Given the description of an element on the screen output the (x, y) to click on. 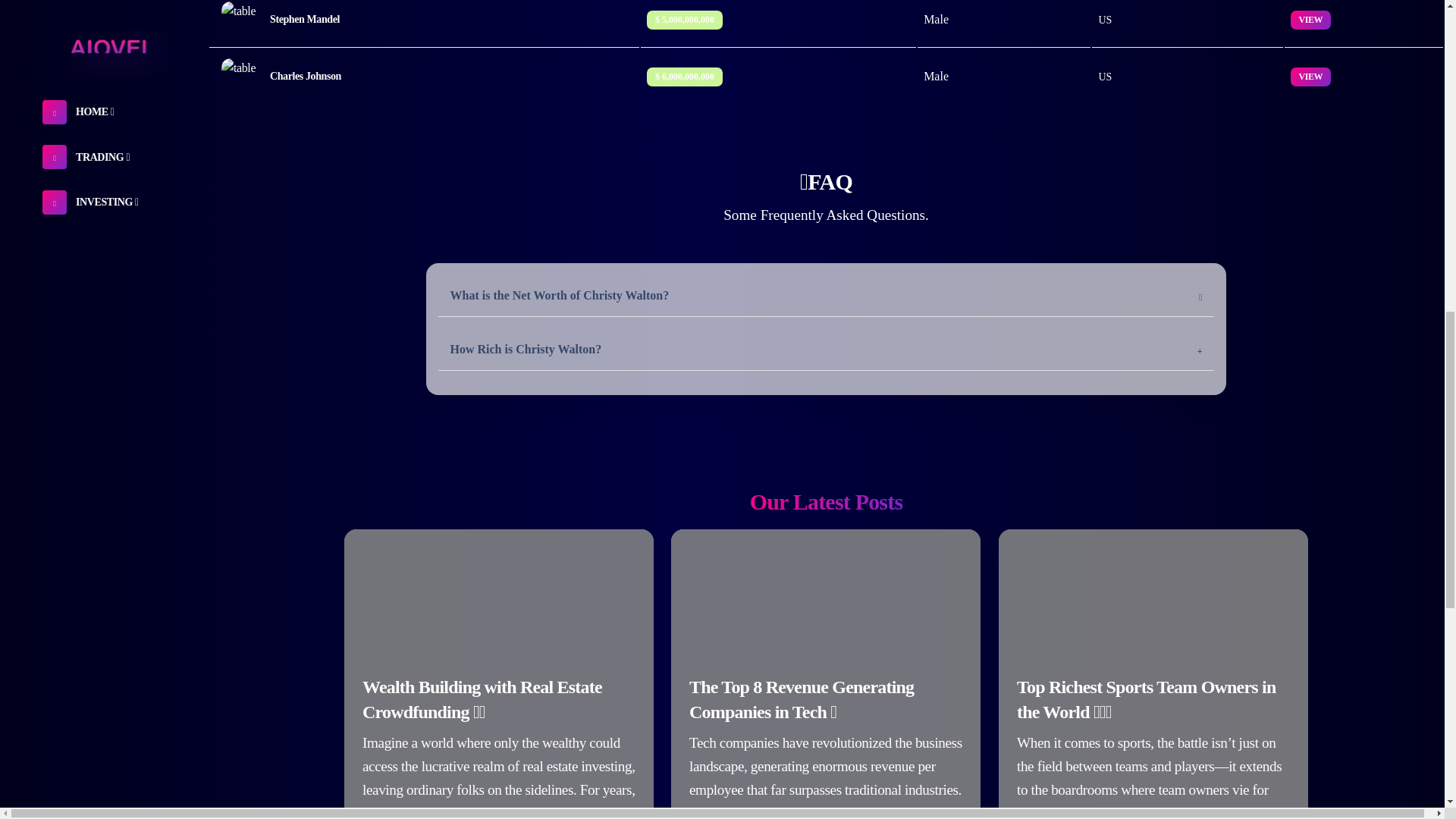
Stephen Mandel (424, 20)
VIEW (1310, 18)
VIEW (1310, 74)
Charles Johnson (424, 76)
What is the Net Worth of Christy Walton? (826, 295)
How Rich is Christy Walton? (826, 350)
